Given the description of an element on the screen output the (x, y) to click on. 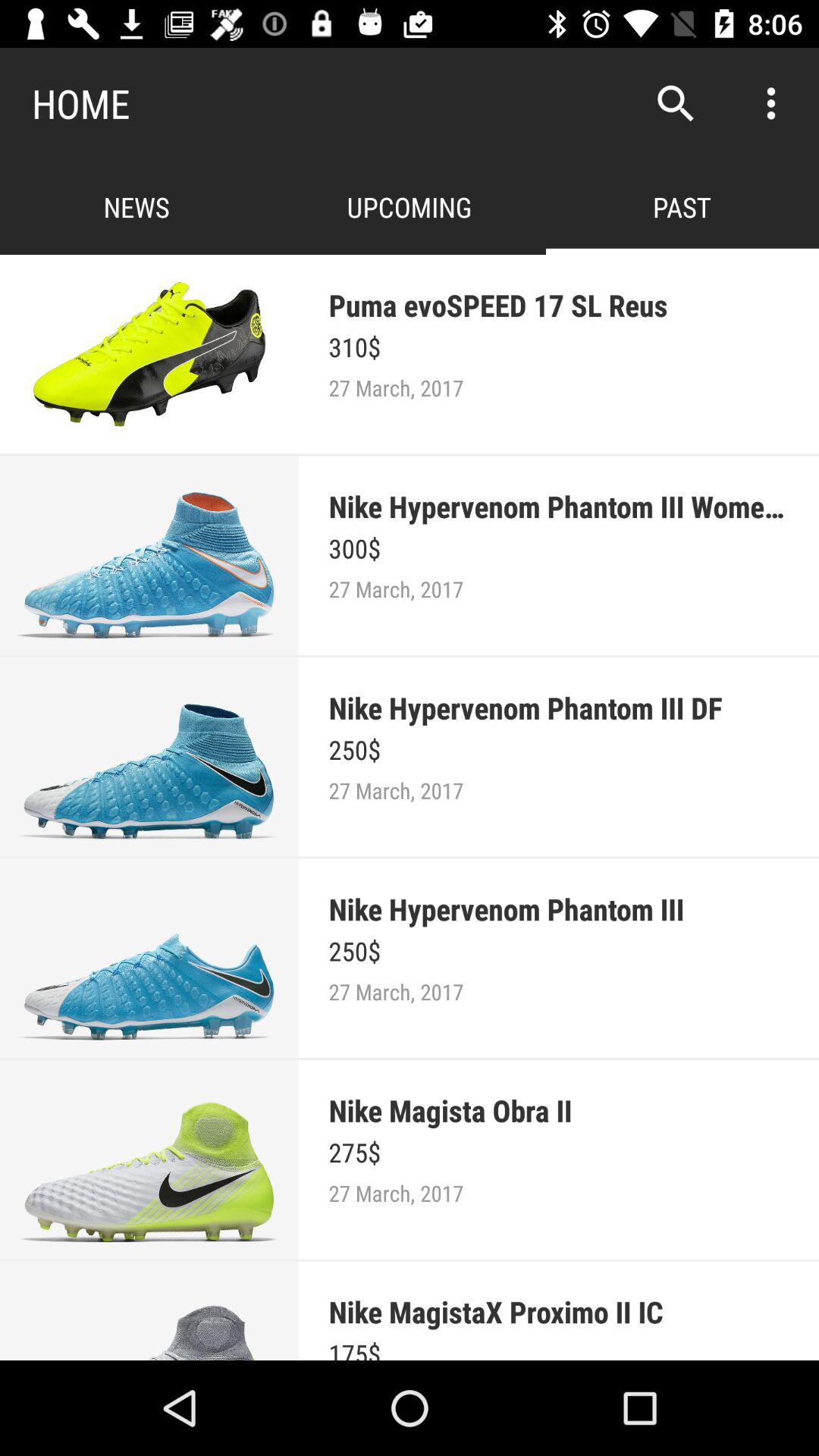
select the icon above the past item (675, 103)
